Given the description of an element on the screen output the (x, y) to click on. 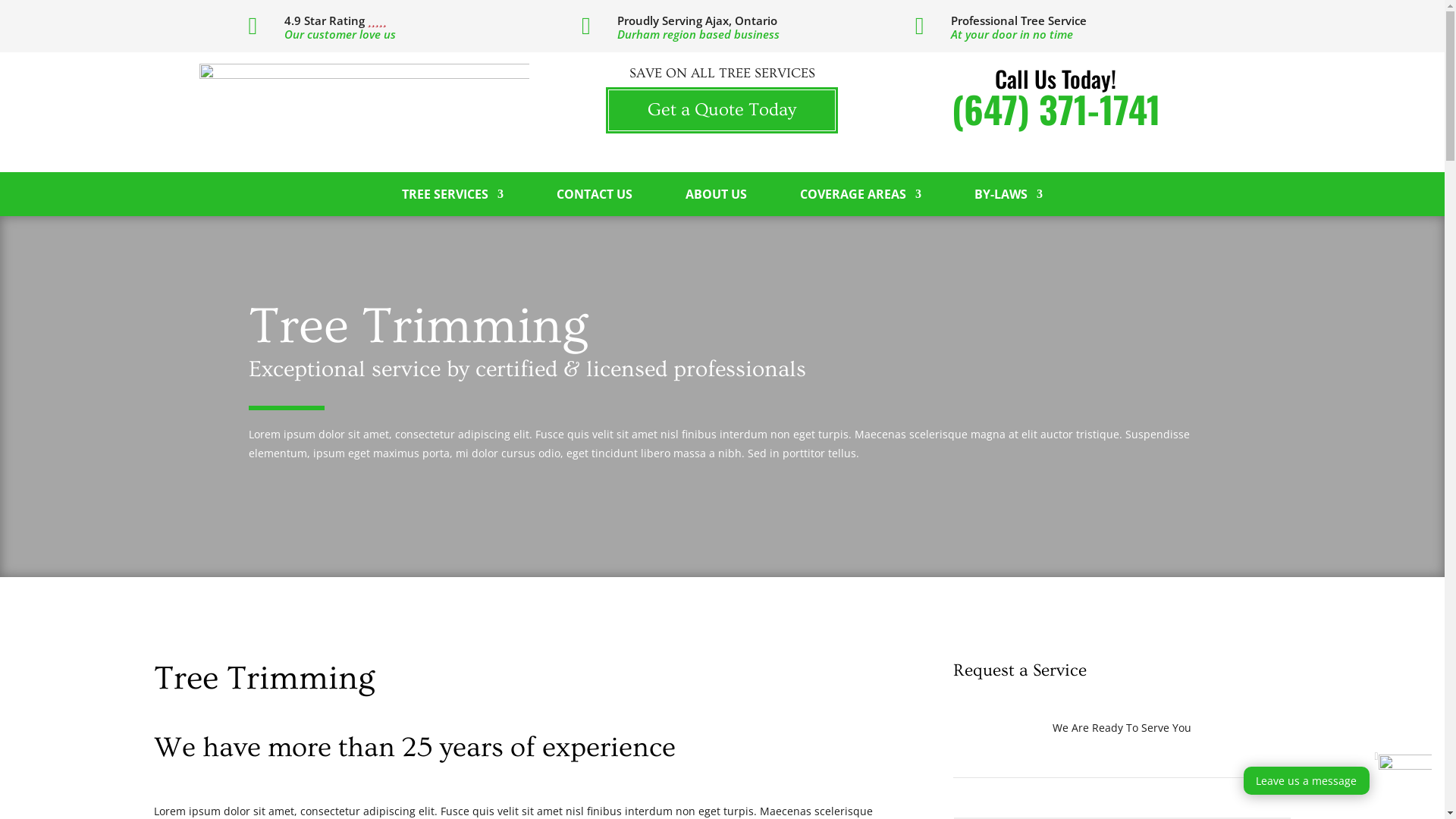
BY-LAWS Element type: text (1008, 202)
call center Element type: hover (1404, 780)
COVERAGE AREAS Element type: text (860, 202)
ABOUT US Element type: text (715, 202)
TREE SERVICES Element type: text (452, 202)
Get a Quote Today Element type: text (721, 110)
ajax tree removal - landscape logo Element type: hover (363, 111)
CONTACT US Element type: text (594, 202)
(647) 371-1741 Element type: text (1055, 108)
